Given the description of an element on the screen output the (x, y) to click on. 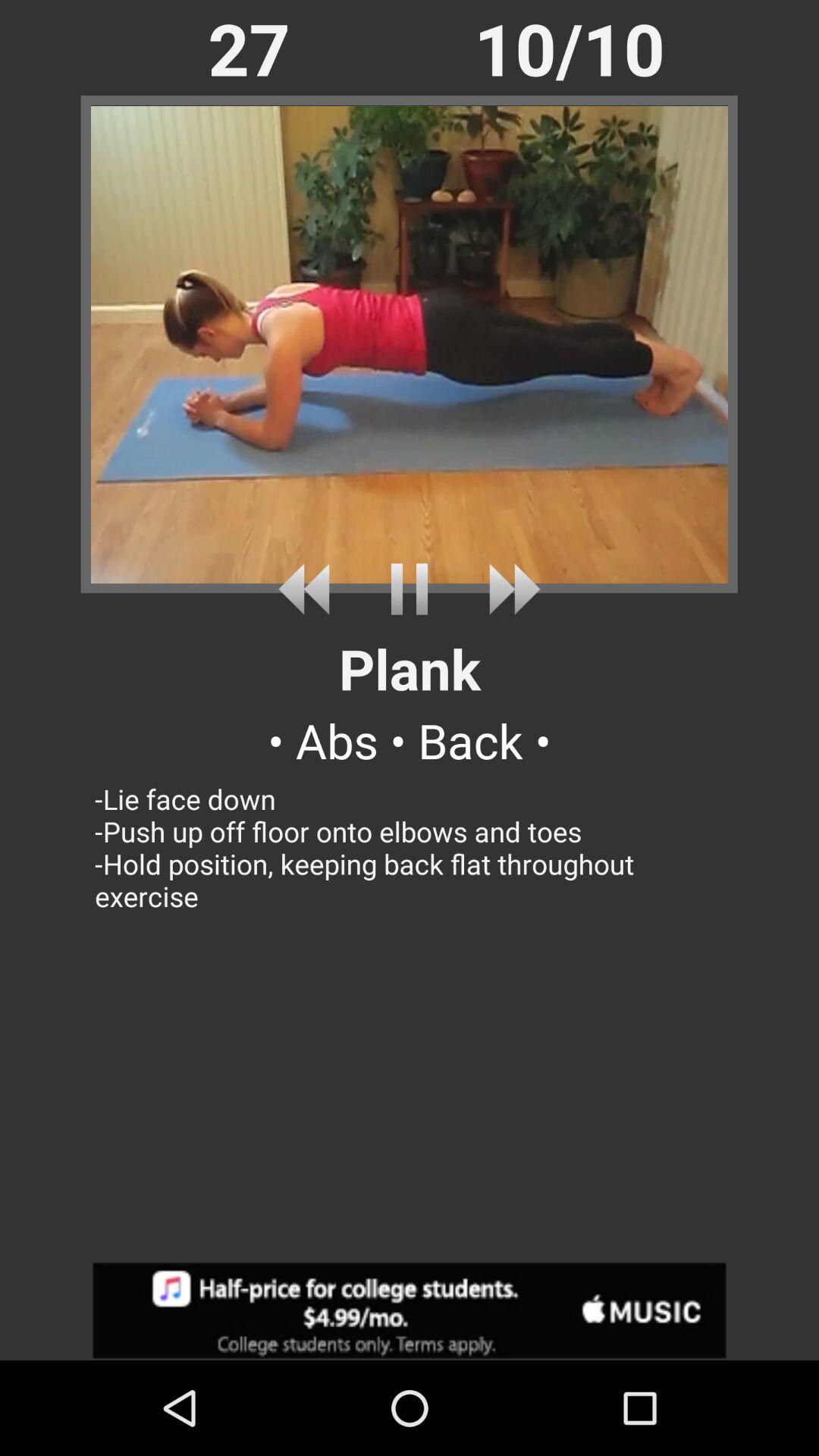
fackward (508, 589)
